Given the description of an element on the screen output the (x, y) to click on. 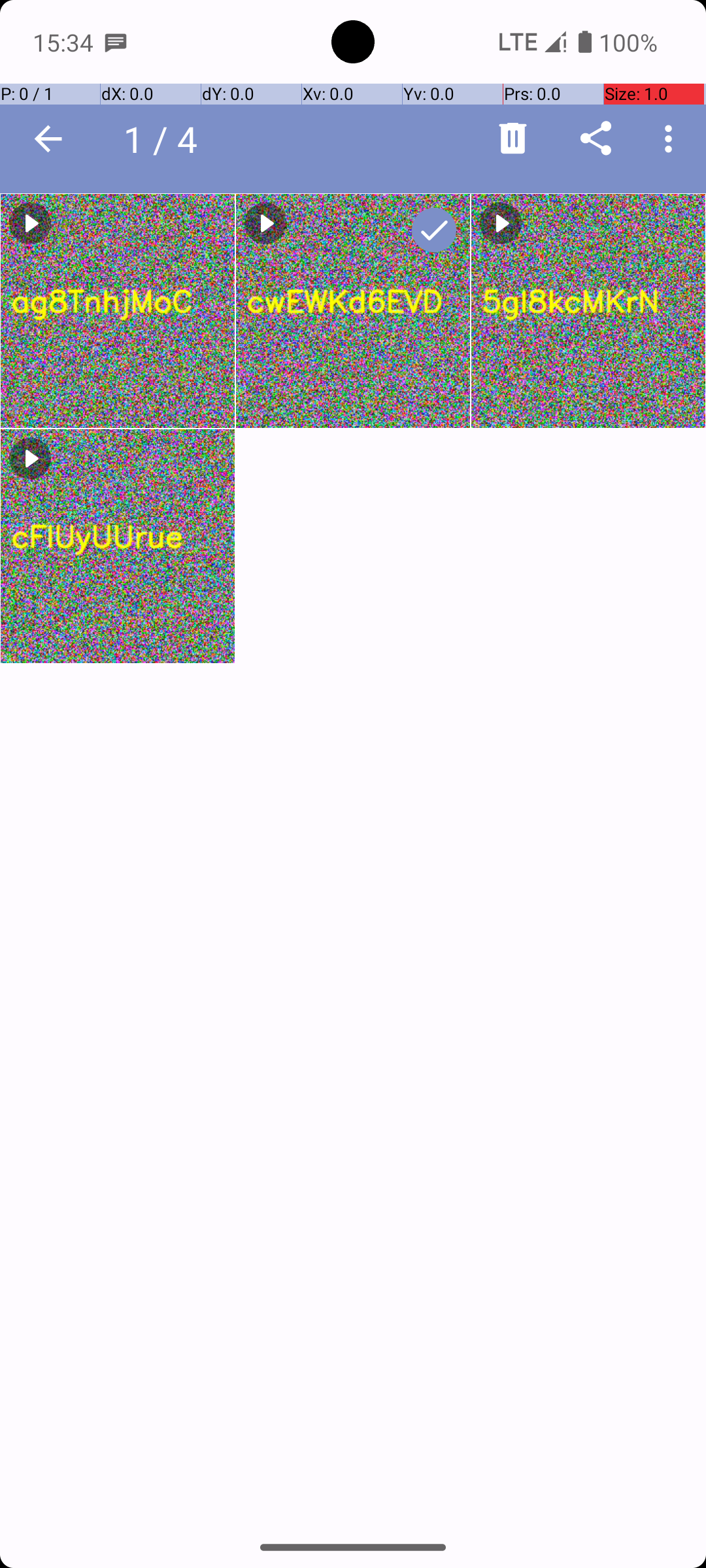
1 / 4 Element type: android.widget.TextView (167, 138)
Search in VLCVideos Element type: android.widget.EditText (252, 138)
